Given the description of an element on the screen output the (x, y) to click on. 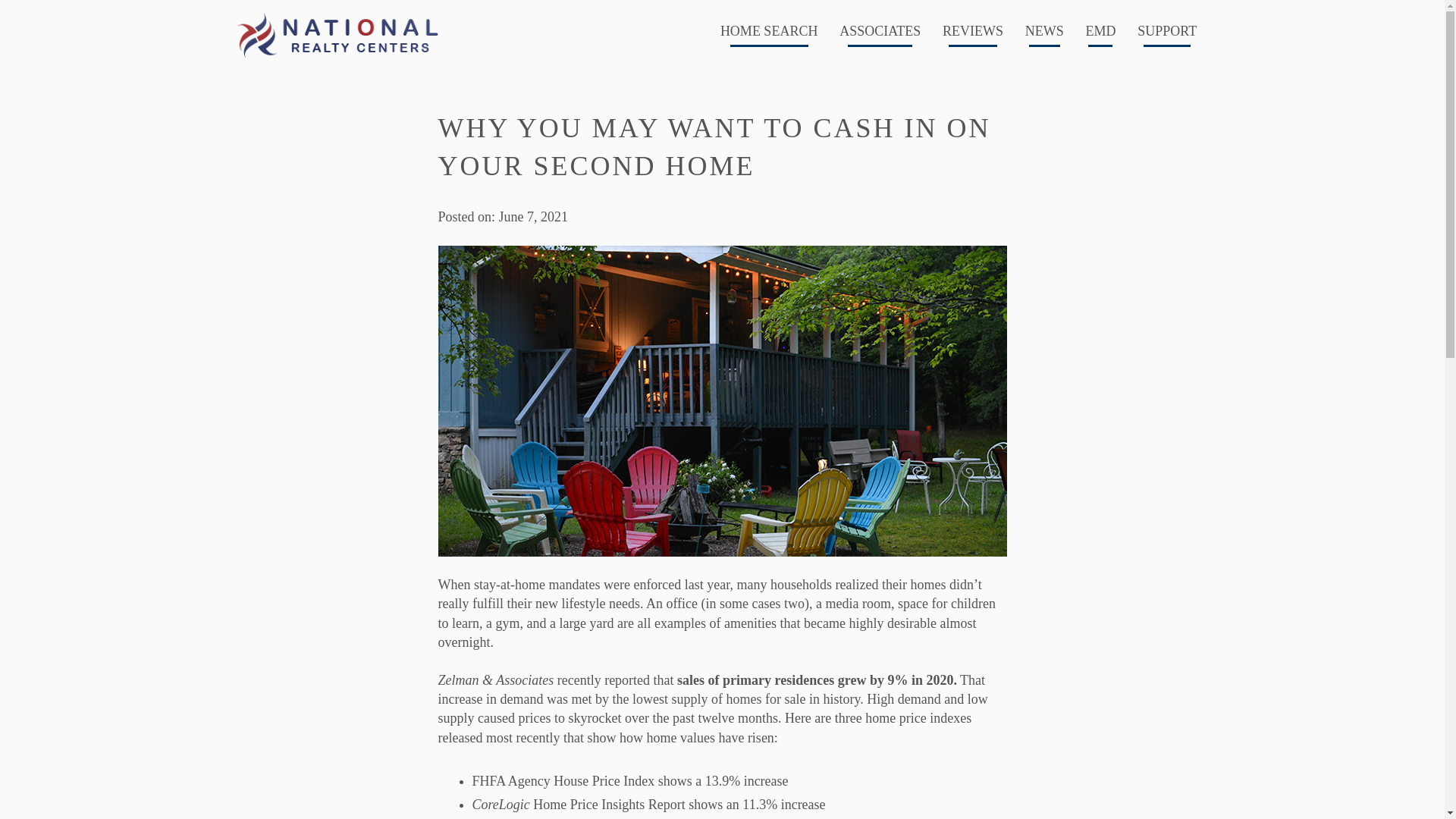
NEWS (1043, 35)
REVIEWS (973, 35)
HOME SEARCH (769, 35)
ASSOCIATES (880, 35)
EMD (1100, 35)
SUPPORT (1167, 35)
